Given the description of an element on the screen output the (x, y) to click on. 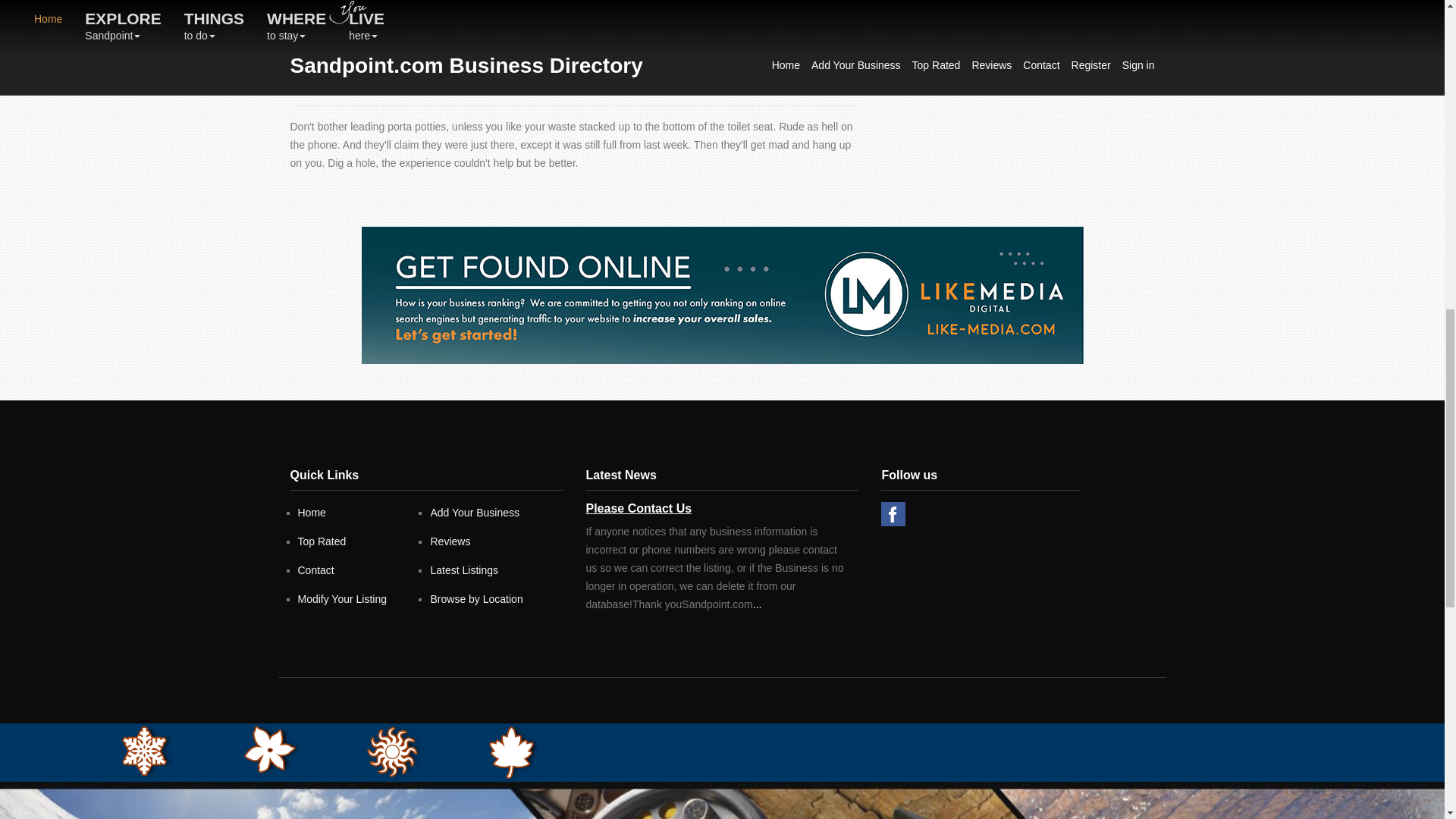
Winter Activities in Sandpoint (147, 750)
Like Media Digital (722, 294)
Summer Activities in Sandpoint (395, 751)
Spring Activities in Sandpoint (273, 749)
